Given the description of an element on the screen output the (x, y) to click on. 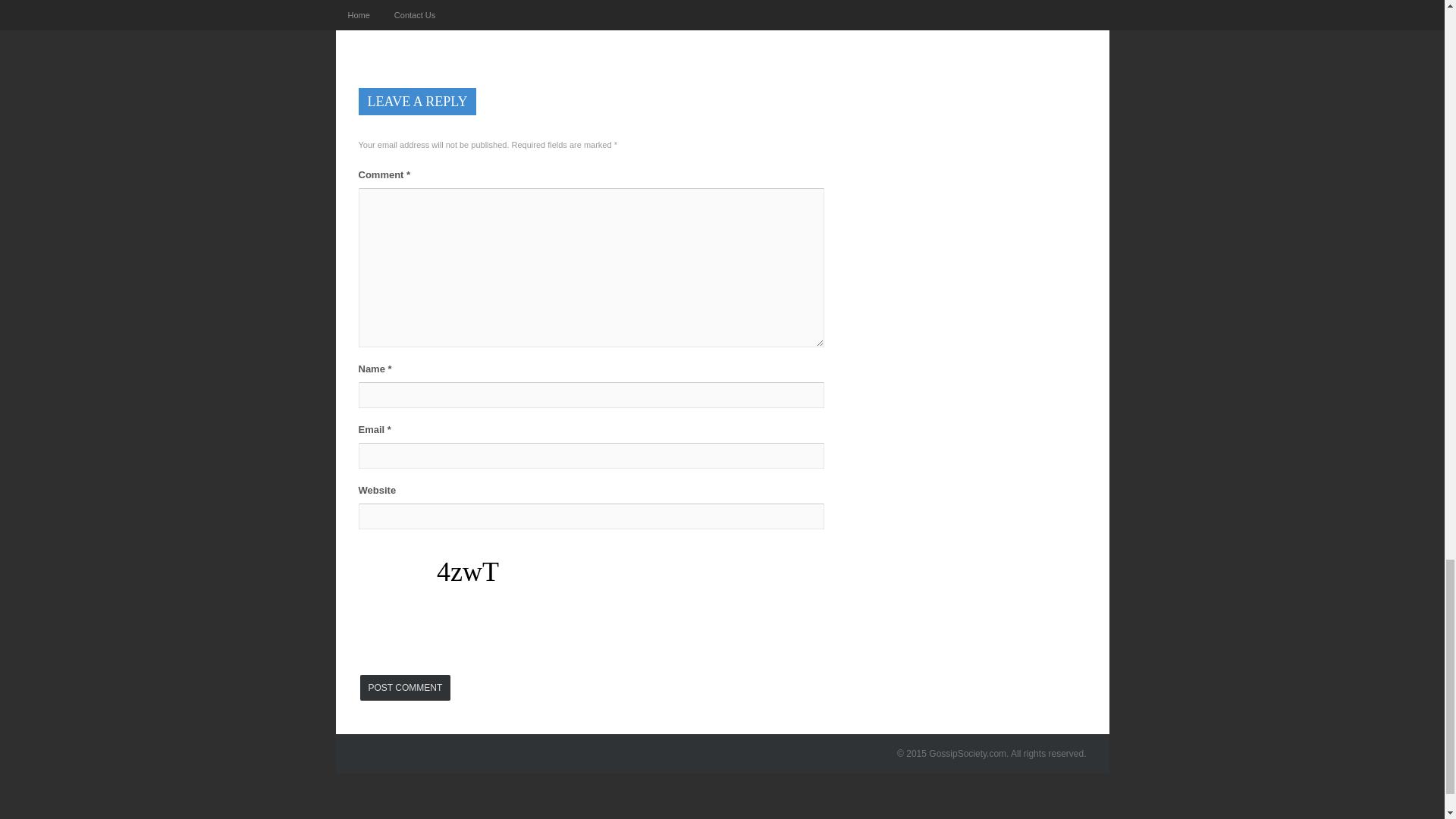
Post Comment (404, 687)
